Given the description of an element on the screen output the (x, y) to click on. 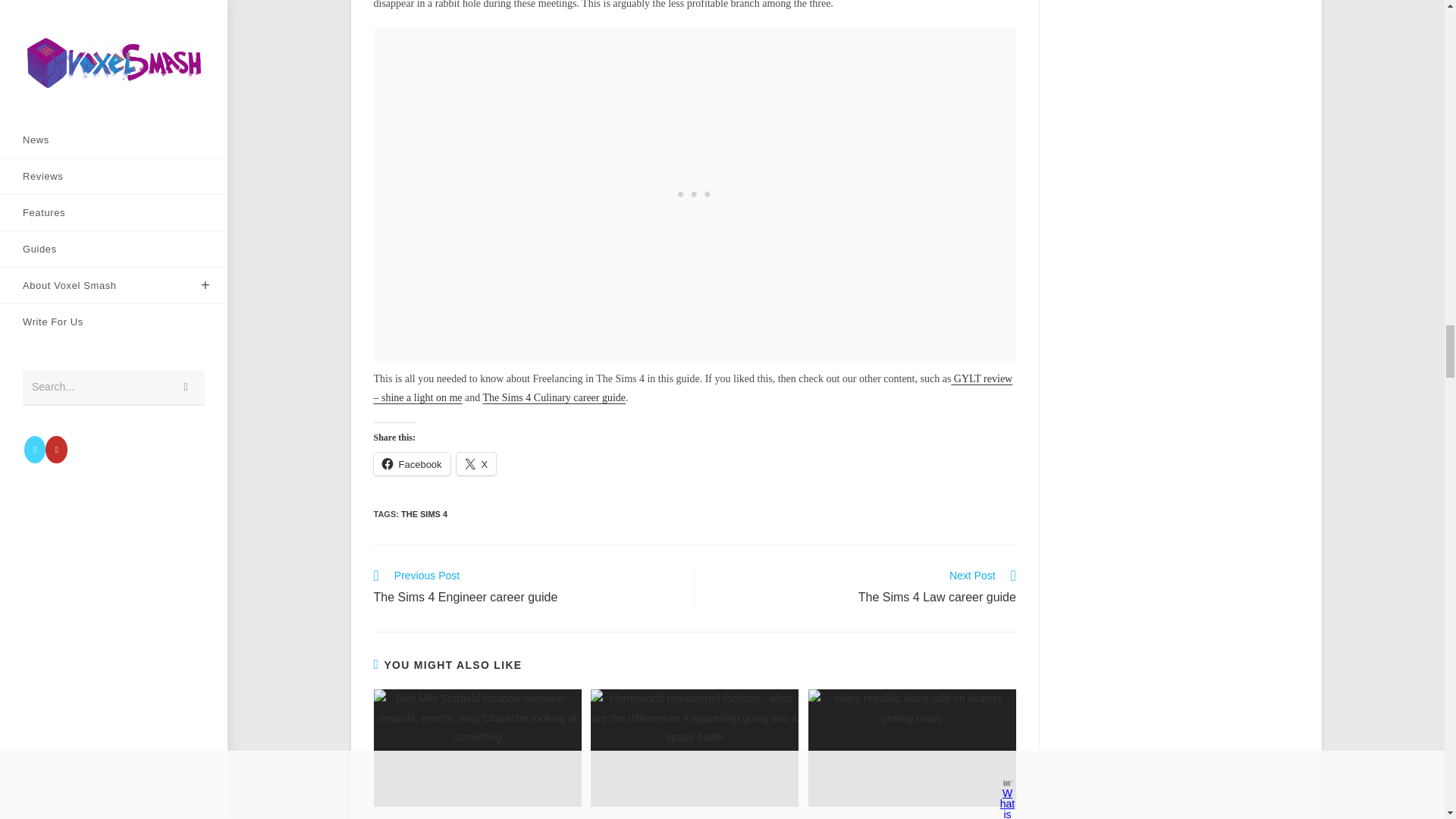
Facebook (410, 463)
THE SIMS 4 (423, 513)
Click to share on Facebook (525, 588)
The Sims 4 Culinary career guide (410, 463)
Click to share on X (554, 397)
X (476, 463)
